Given the description of an element on the screen output the (x, y) to click on. 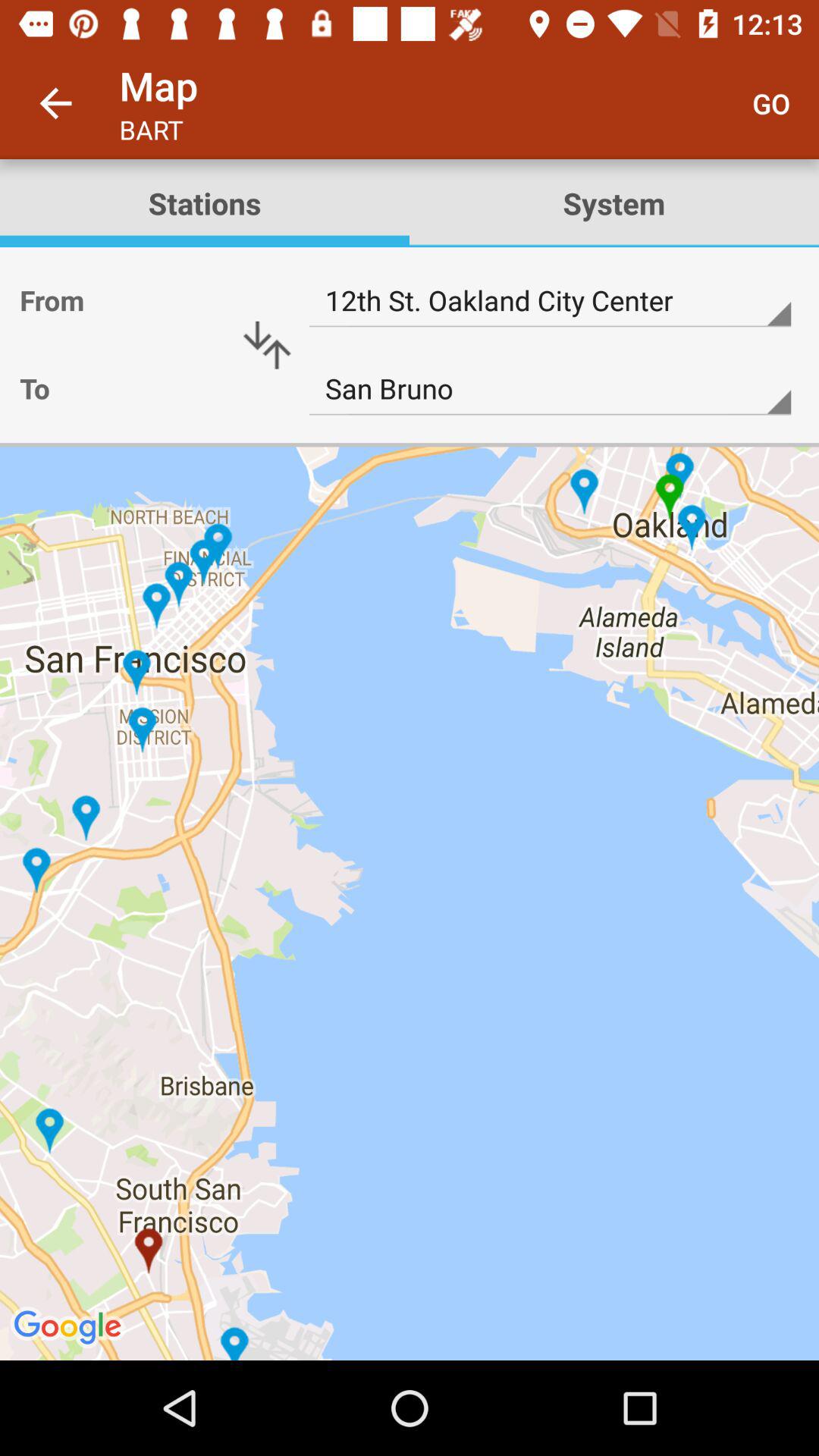
open item next to from (267, 345)
